Given the description of an element on the screen output the (x, y) to click on. 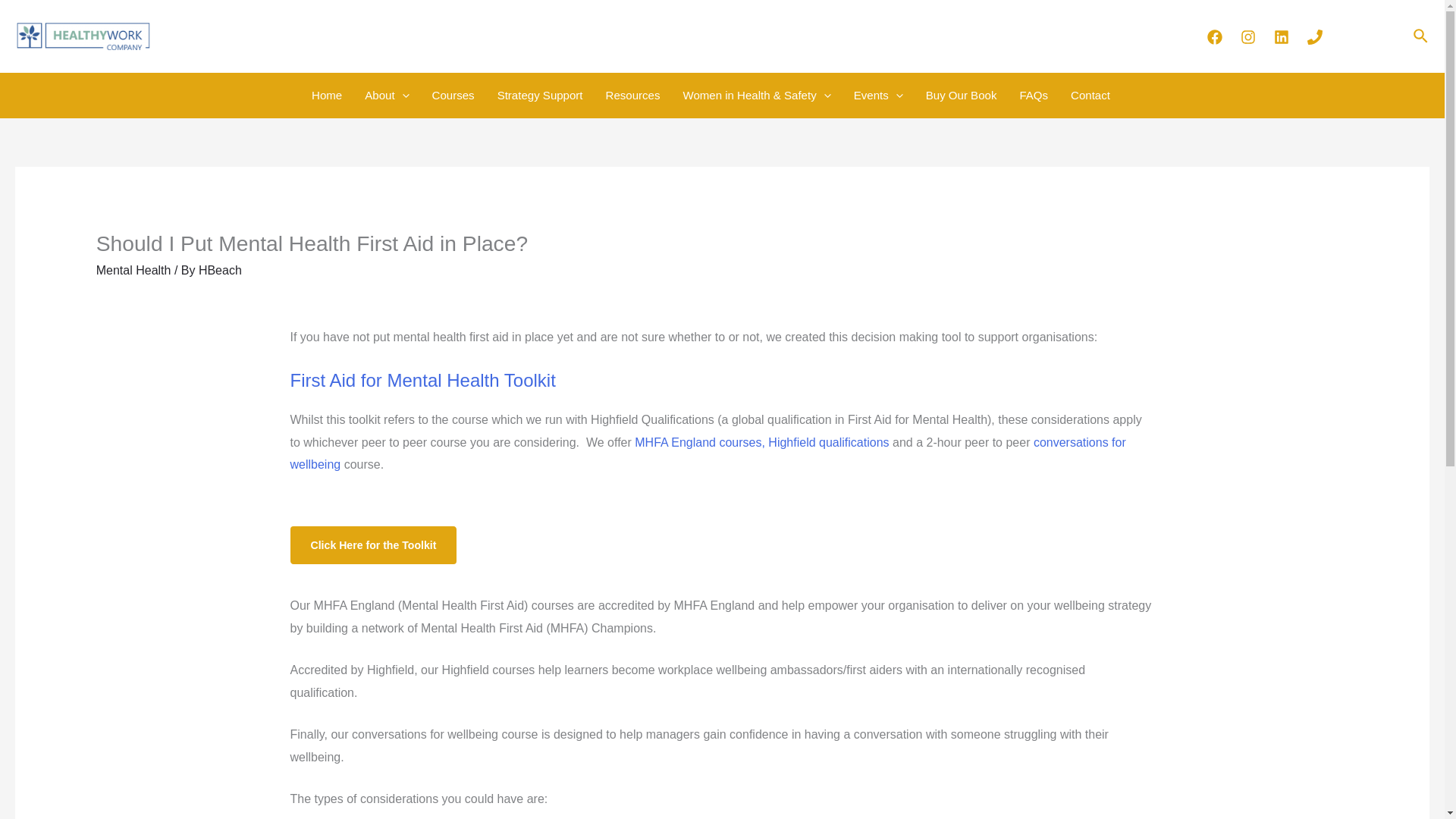
Home (326, 94)
Contact (1090, 94)
Mental Health (133, 269)
Resources (632, 94)
View all posts by HBeach (219, 269)
Events (878, 94)
Courses (453, 94)
Click Here for the Toolkit (373, 545)
About (386, 94)
Highfield qualifications (828, 441)
